Given the description of an element on the screen output the (x, y) to click on. 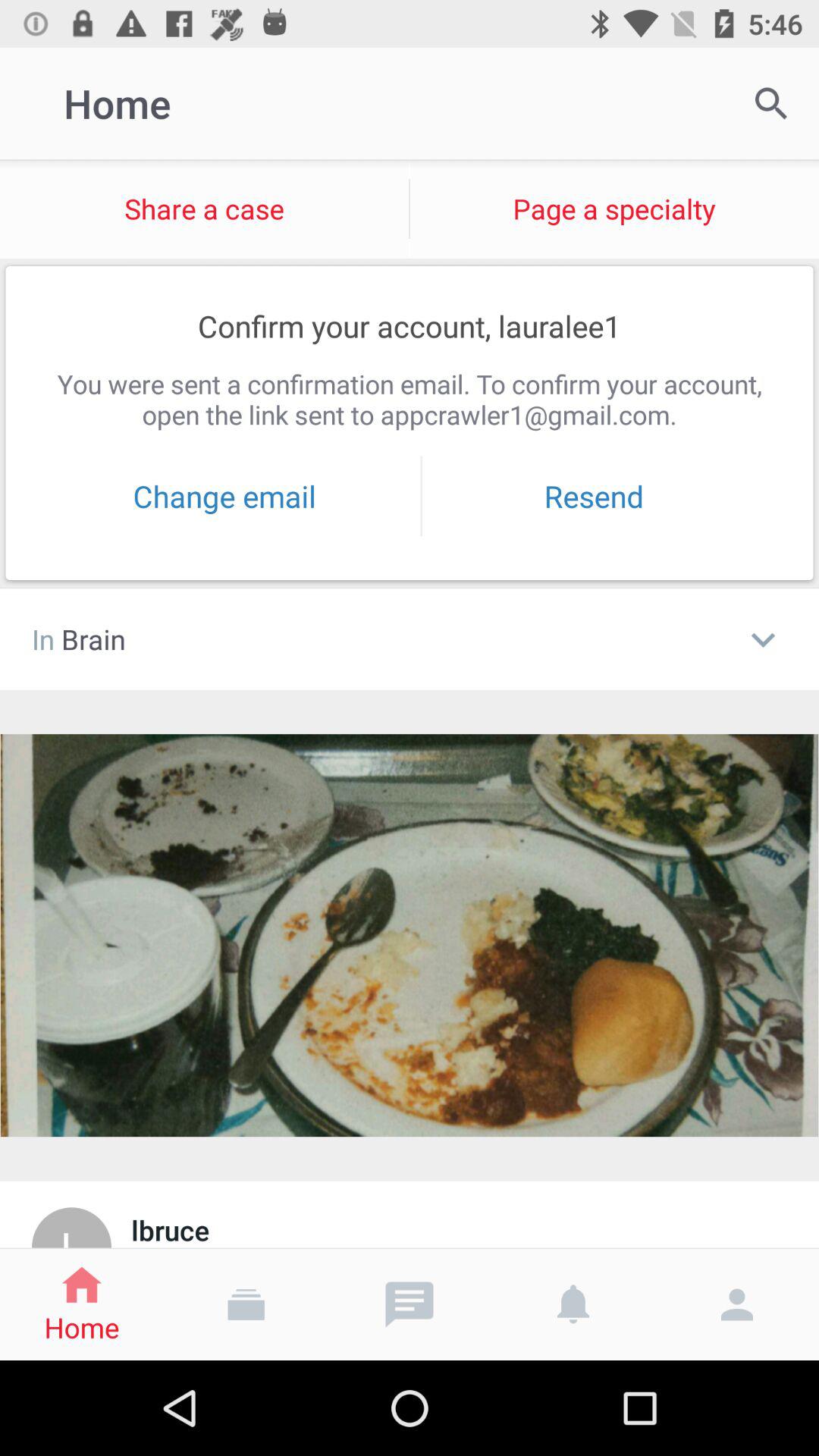
flip to the in brain item (379, 639)
